Given the description of an element on the screen output the (x, y) to click on. 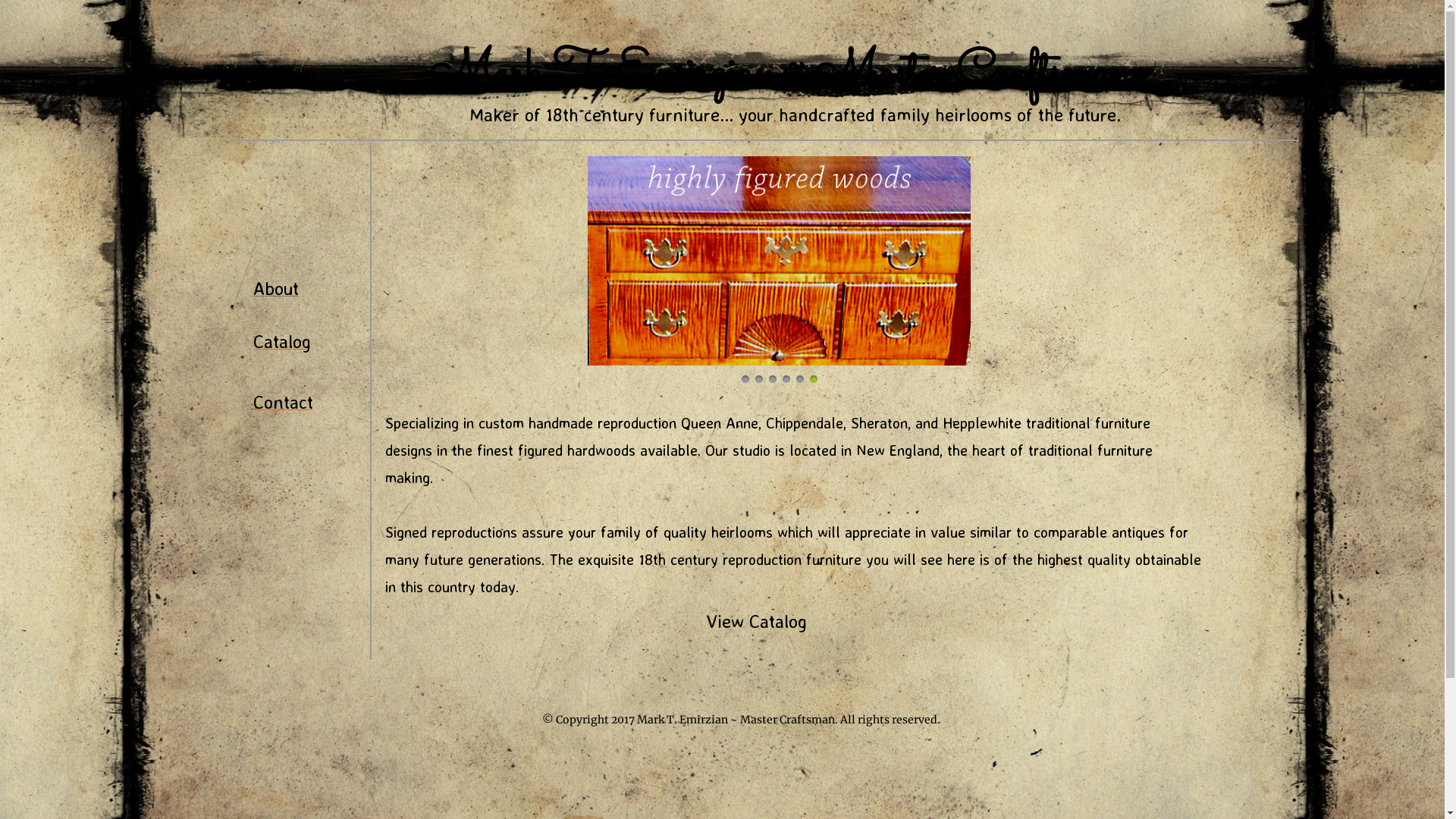
Catalog Element type: text (281, 342)
About Element type: text (275, 289)
Contact Element type: text (283, 403)
View Catalog Element type: text (755, 622)
